Given the description of an element on the screen output the (x, y) to click on. 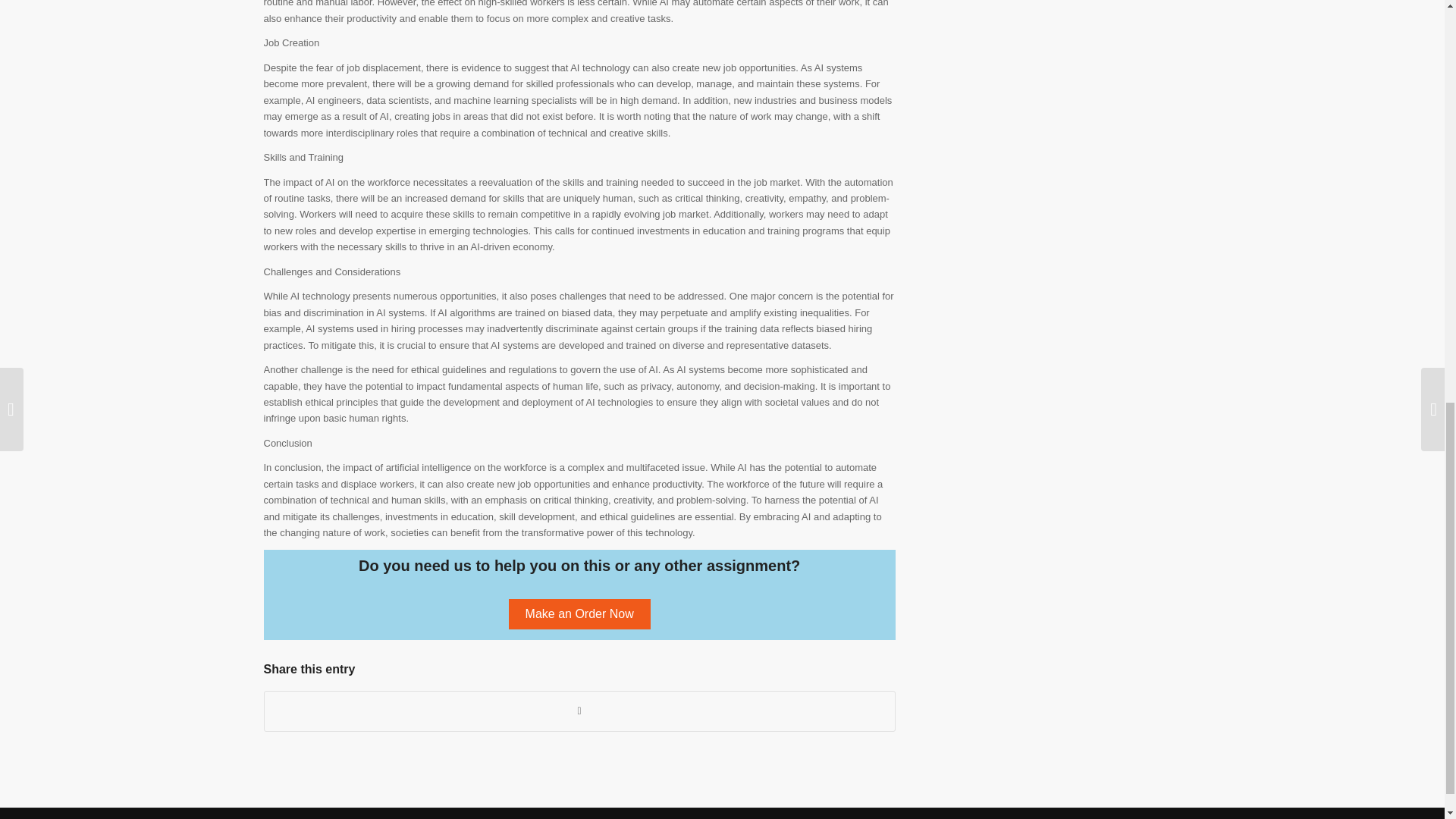
Make an Order Now (579, 613)
